Given the description of an element on the screen output the (x, y) to click on. 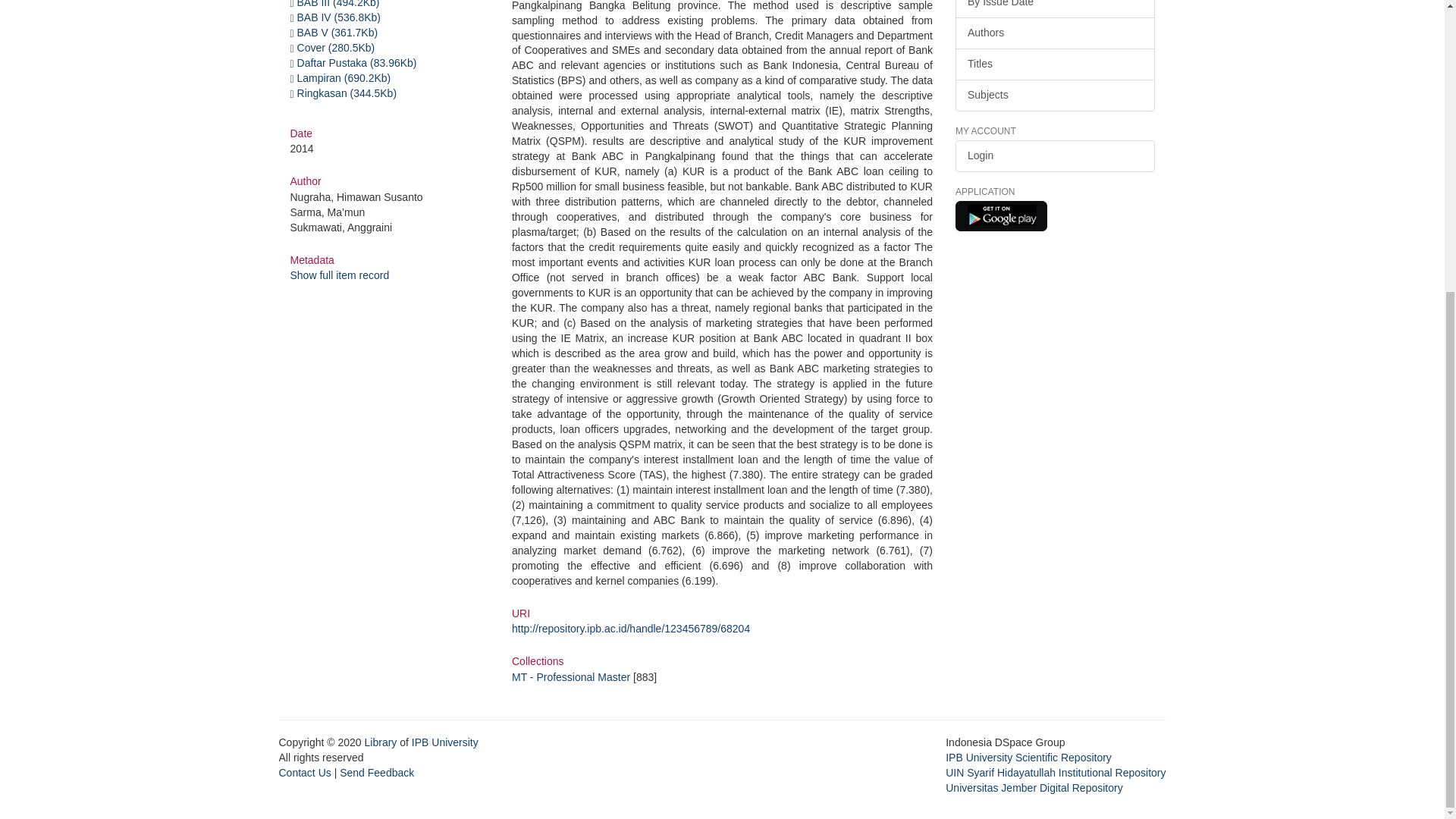
Show full item record (338, 275)
MT - Professional Master (571, 676)
